Given the description of an element on the screen output the (x, y) to click on. 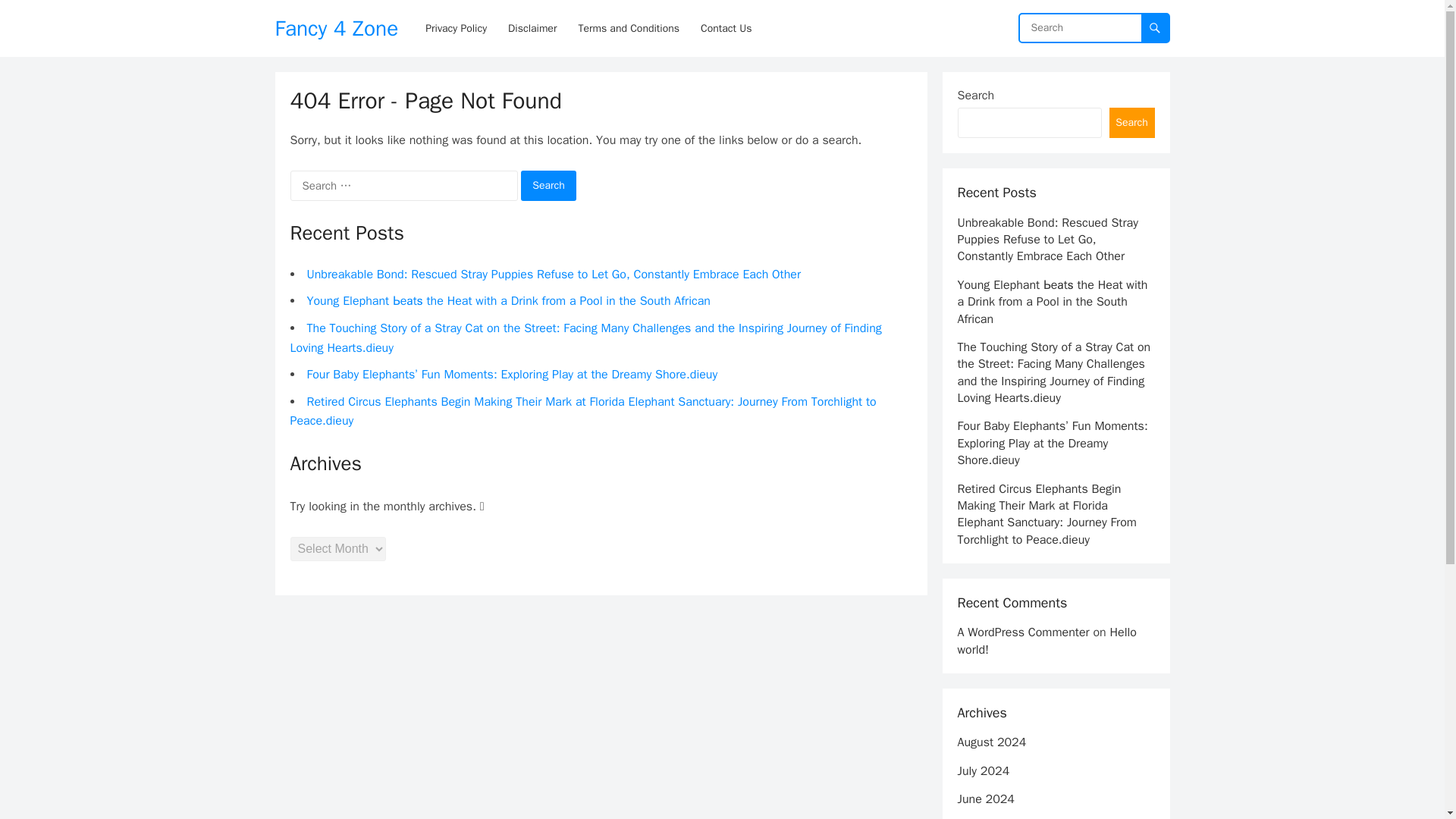
July 2024 (982, 770)
Fancy 4 Zone (336, 28)
Privacy Policy (456, 28)
Terms and Conditions (628, 28)
Search (548, 185)
June 2024 (984, 798)
Search (548, 185)
Disclaimer (532, 28)
Search (1131, 122)
A WordPress Commenter (1022, 631)
